Given the description of an element on the screen output the (x, y) to click on. 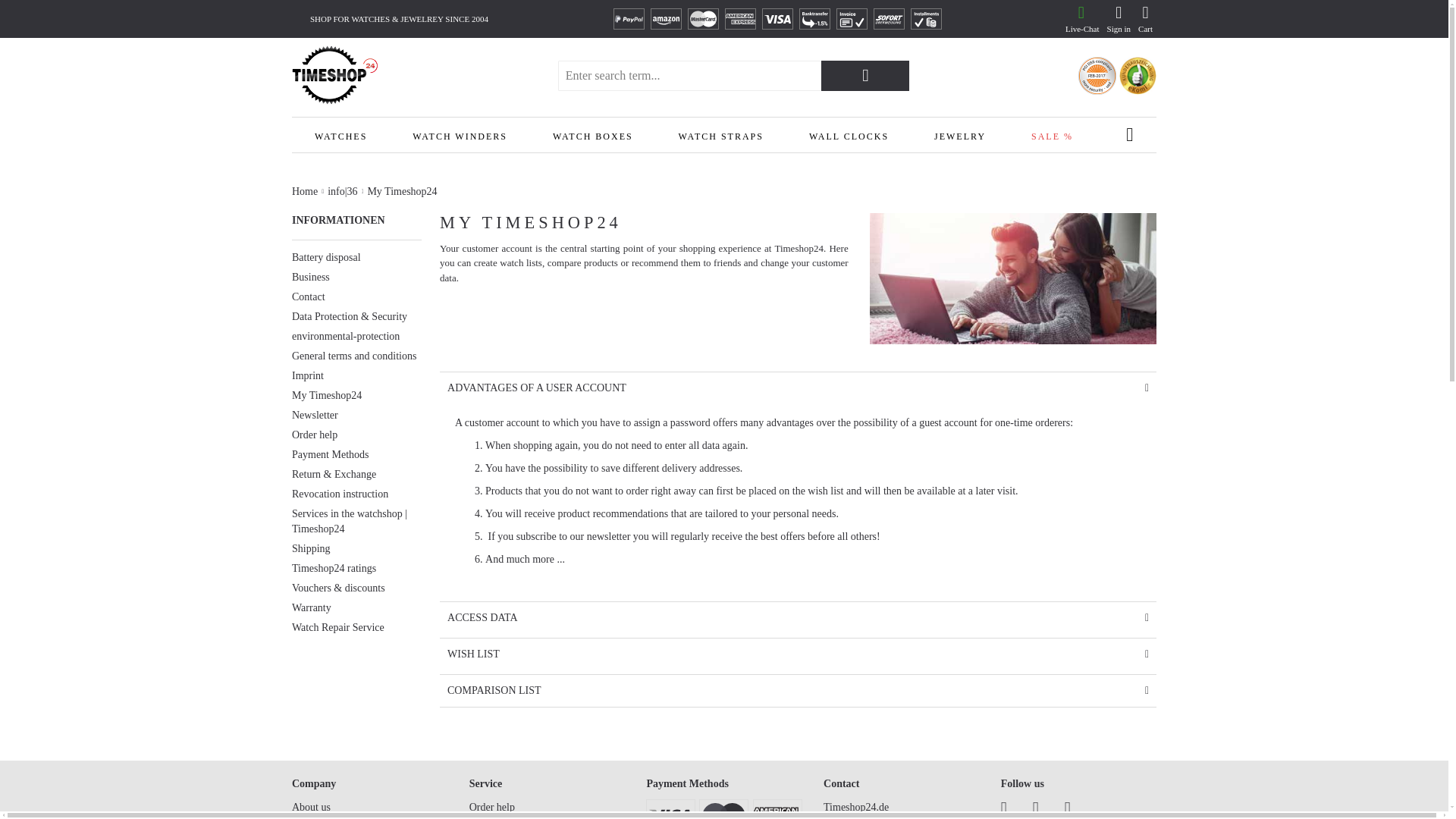
AmazonPayments (665, 18)
VISA (777, 18)
Payment by instalments (926, 18)
Invoice (851, 18)
Search (864, 75)
MasterCard (703, 18)
Prepayment (814, 18)
Sign in (1118, 19)
WATCHES (340, 134)
SOFORT (888, 18)
Search (864, 75)
American Express (740, 18)
PayPal (628, 18)
 Live-Chat (1080, 19)
